Given the description of an element on the screen output the (x, y) to click on. 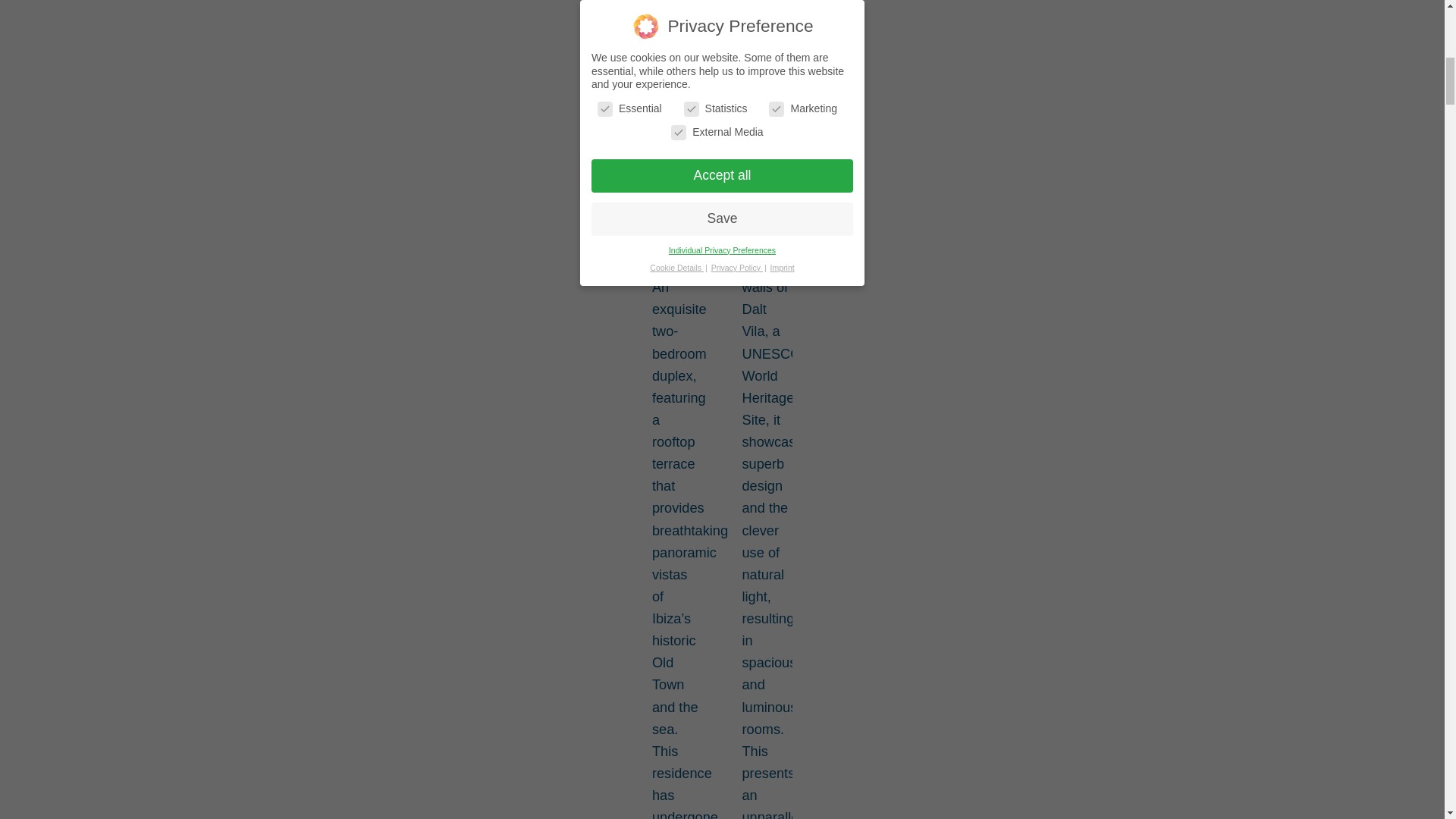
Ibiza Properties (713, 1)
